Given the description of an element on the screen output the (x, y) to click on. 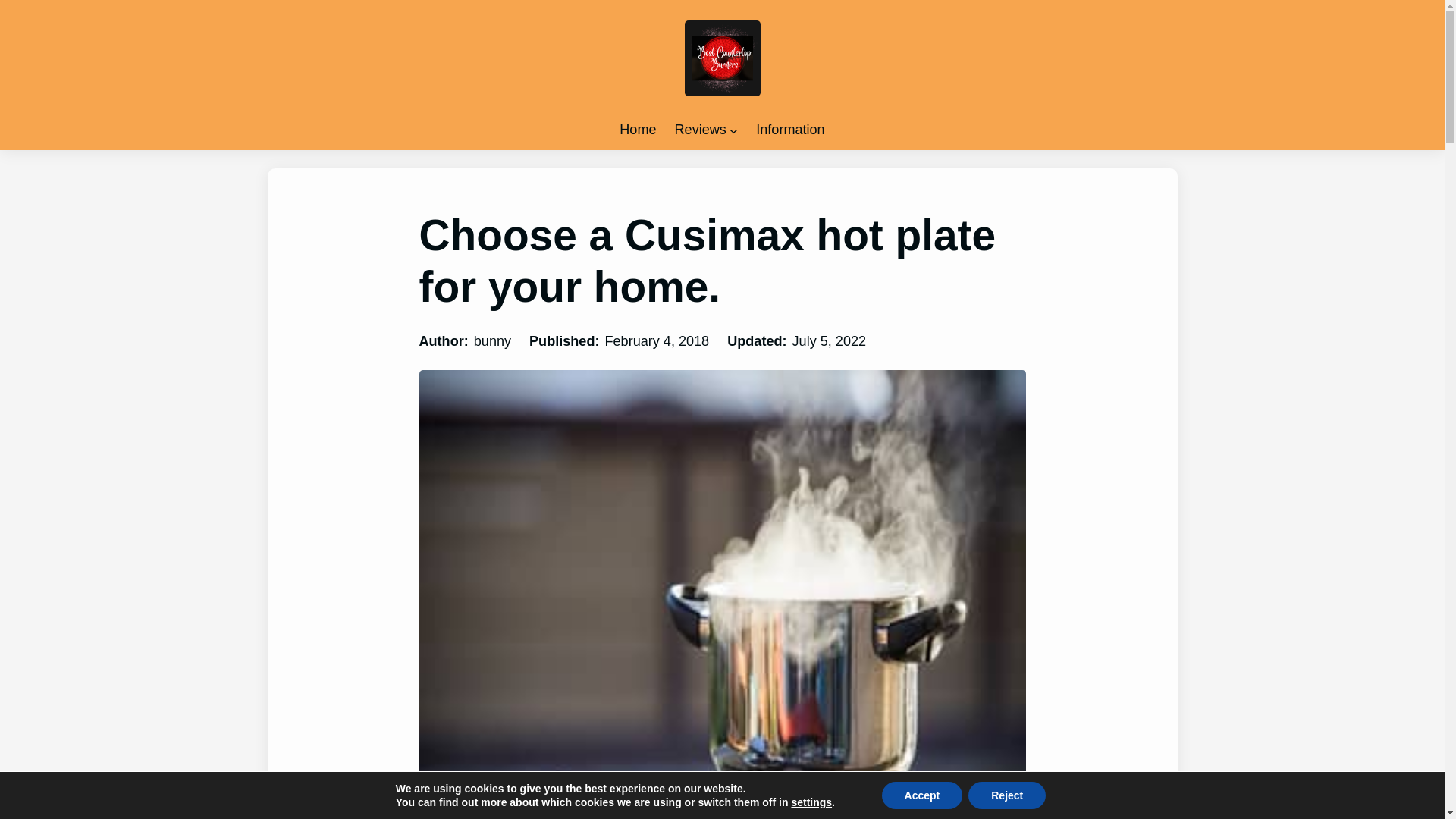
Information (789, 130)
Reviews (700, 130)
Home (638, 130)
